Given the description of an element on the screen output the (x, y) to click on. 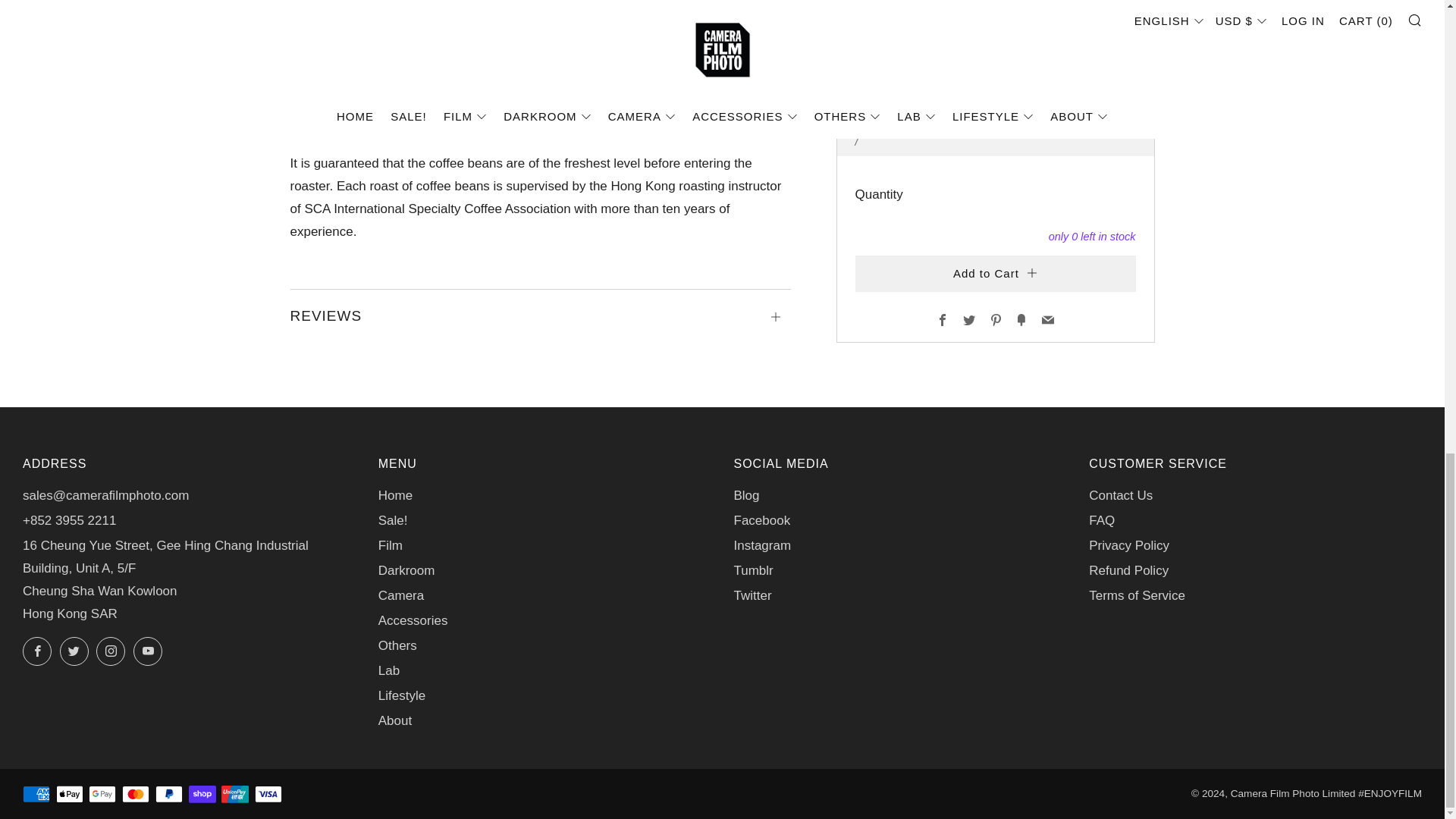
Google Pay (102, 794)
PayPal (169, 794)
Union Pay (234, 794)
Visa (268, 794)
Apple Pay (69, 794)
American Express (36, 794)
Shop Pay (202, 794)
Mastercard (135, 794)
